Given the description of an element on the screen output the (x, y) to click on. 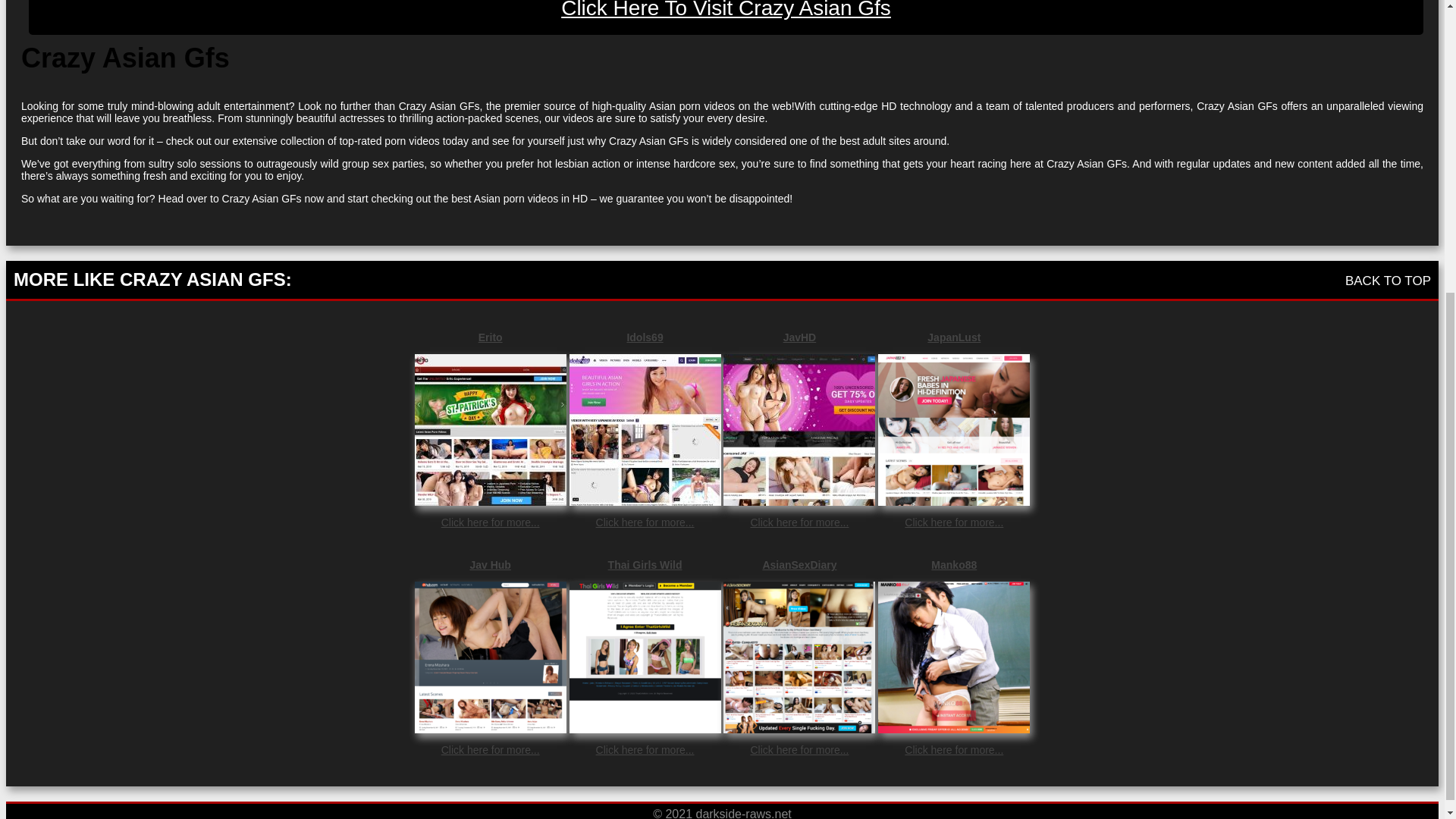
Click here for more... (798, 749)
Thai Girls Wild (644, 564)
Click here for more... (953, 749)
Click Here To Visit Crazy Asian Gfs (726, 17)
JavHD (799, 337)
Click here for more... (798, 522)
Click here for more... (490, 749)
JapanLust (953, 337)
BACK TO TOP (1388, 280)
Manko88 (953, 564)
Crazy Asian Gfs (726, 17)
Click here for more... (644, 522)
Click here for more... (644, 749)
Erito (490, 337)
Jav Hub (490, 564)
